Given the description of an element on the screen output the (x, y) to click on. 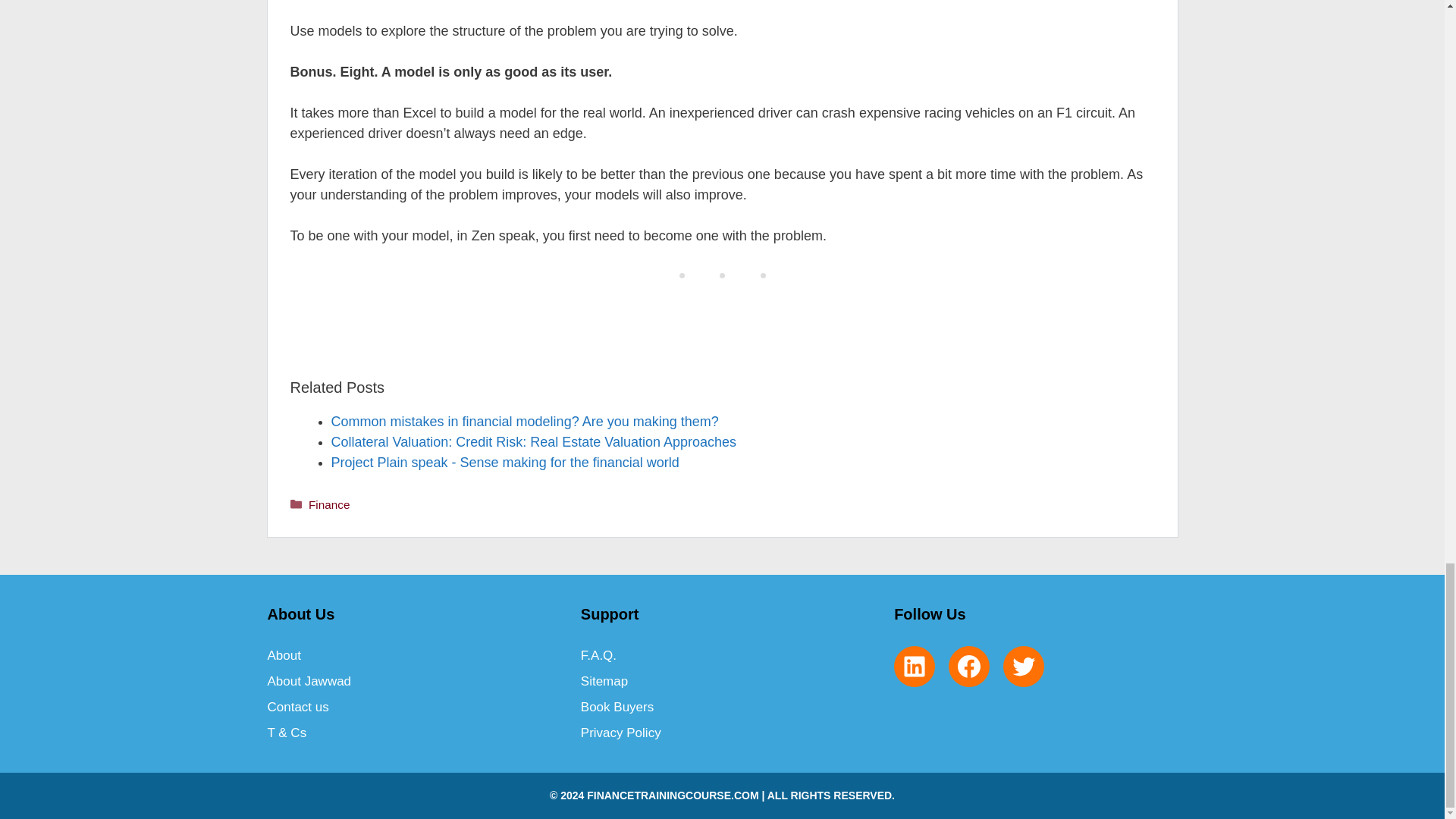
F.A.Q. (597, 655)
About Jawwad (308, 681)
Privacy Policy (620, 732)
Sitemap (603, 681)
Facebook (969, 665)
Twitter (1023, 665)
Common mistakes in financial modeling? Are you making them? (523, 421)
Contact us (297, 707)
Finance (328, 504)
Project Plain speak - Sense making for the financial world (504, 462)
LinkedIn (913, 665)
About (282, 655)
Book Buyers (616, 707)
